Given the description of an element on the screen output the (x, y) to click on. 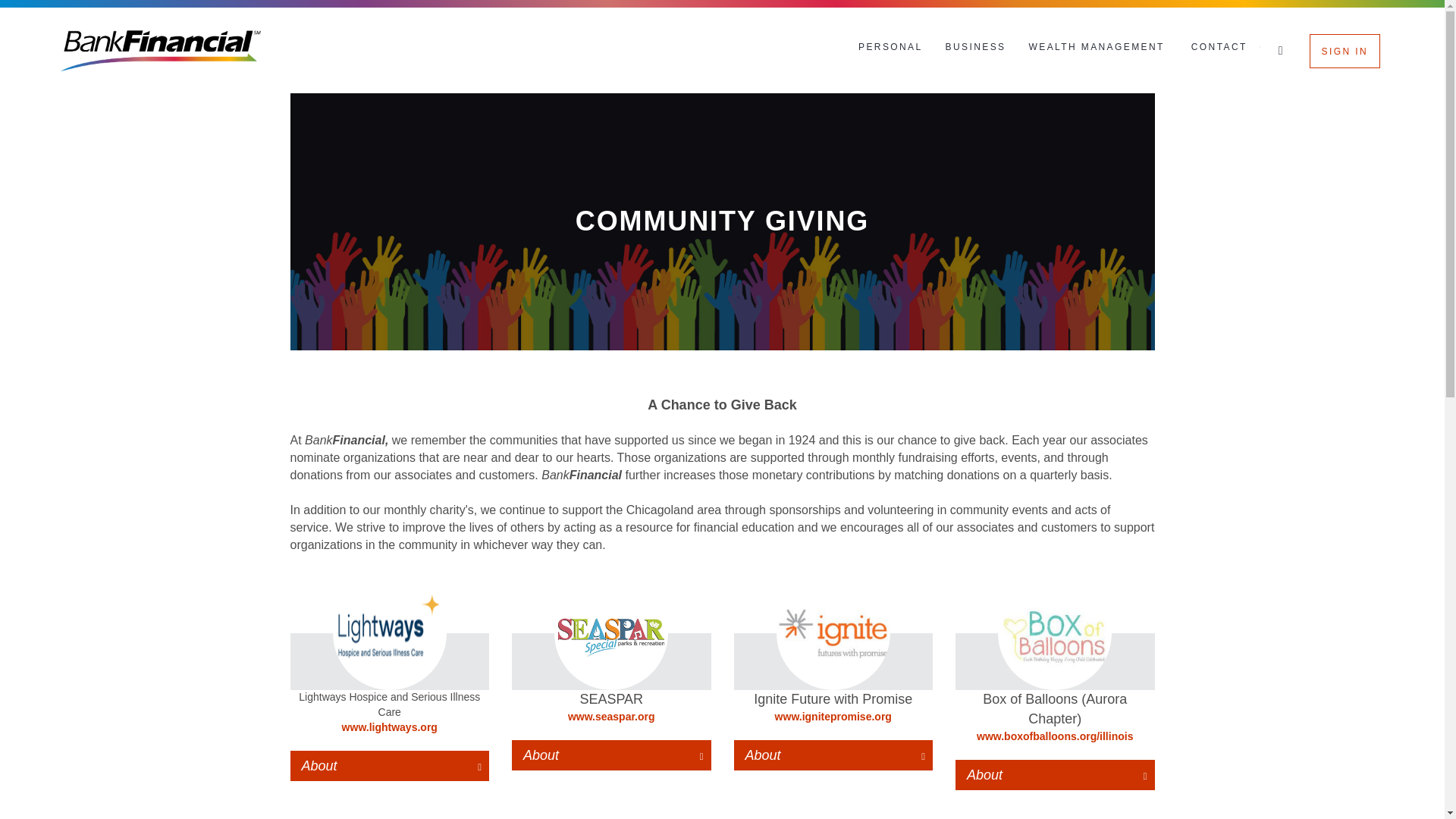
BankFinancial, Orland Park, IL (160, 49)
